Given the description of an element on the screen output the (x, y) to click on. 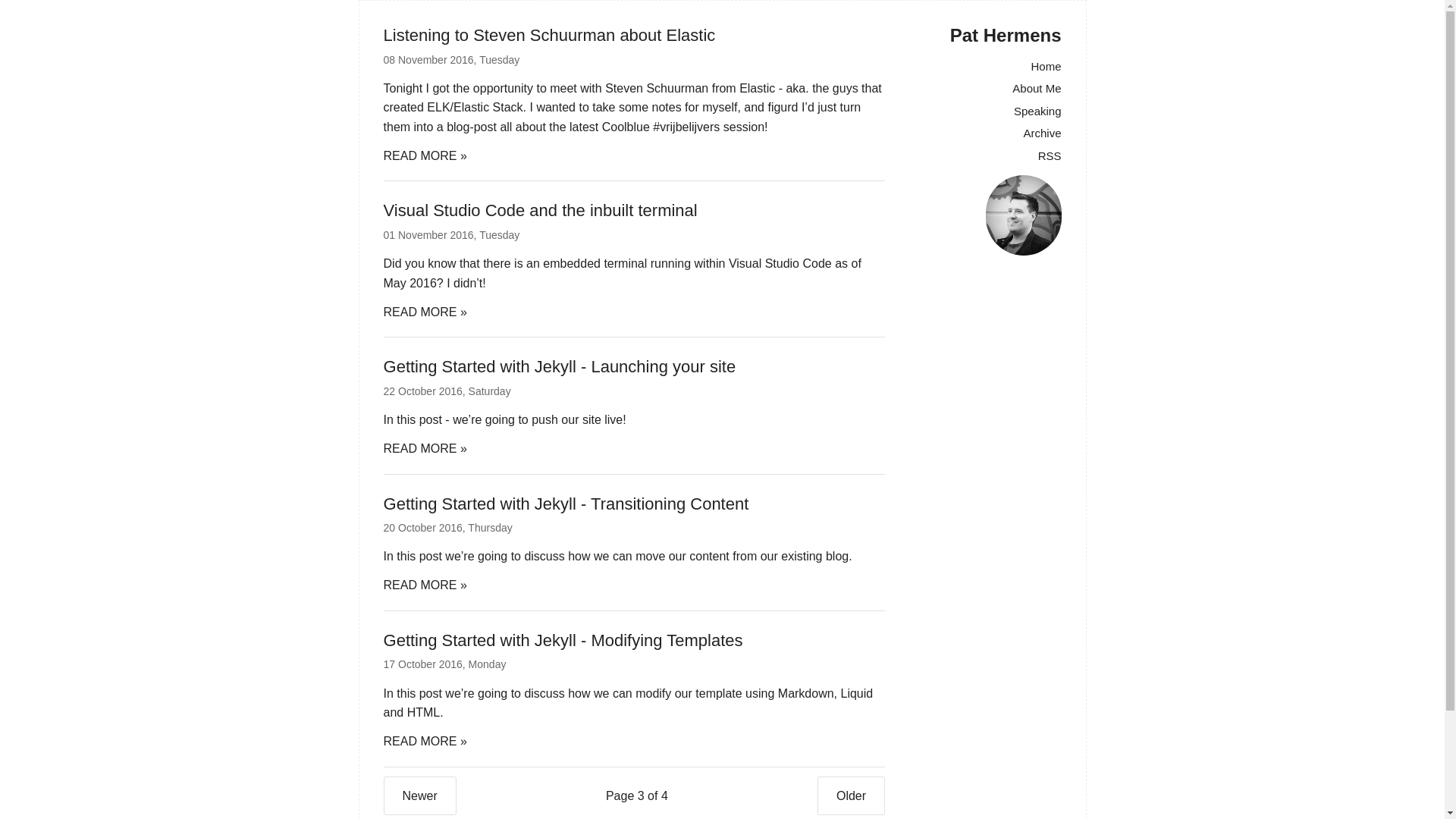
Elastic Element type: text (757, 87)
Pat Hermens Element type: text (1005, 35)
Home Element type: text (1045, 65)
RSS Element type: text (1049, 155)
Getting Started with Jekyll - Transitioning Content Element type: text (566, 503)
Getting Started with Jekyll - Launching your site Element type: text (559, 366)
About Me Element type: text (1036, 87)
#vrijbelijvers Element type: text (685, 126)
Steven Schuurman Element type: text (656, 87)
Getting Started with Jekyll - Modifying Templates Element type: text (563, 639)
Newer Element type: text (419, 795)
May 2016 Element type: text (409, 282)
Speaking Element type: text (1037, 110)
Older Element type: text (850, 795)
Archive Element type: text (1041, 132)
Visual Studio Code and the inbuilt terminal Element type: text (540, 209)
Listening to Steven Schuurman about Elastic Element type: text (549, 34)
